Given the description of an element on the screen output the (x, y) to click on. 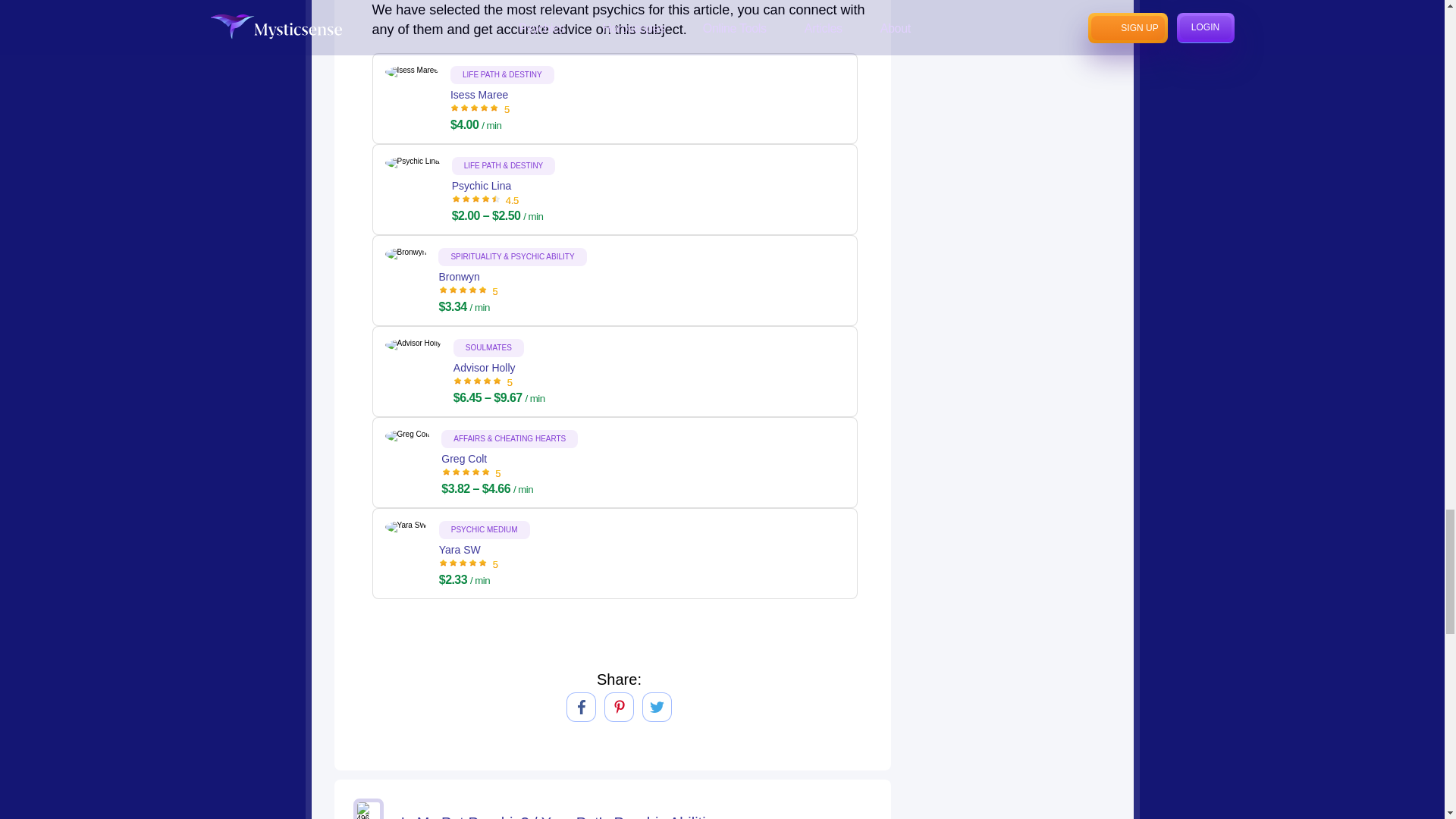
Bronwyn (512, 286)
Isess Maree (501, 104)
Advisor Holly (498, 377)
Yara SW (484, 559)
Psychic Lina (503, 195)
Greg Colt (509, 468)
